Given the description of an element on the screen output the (x, y) to click on. 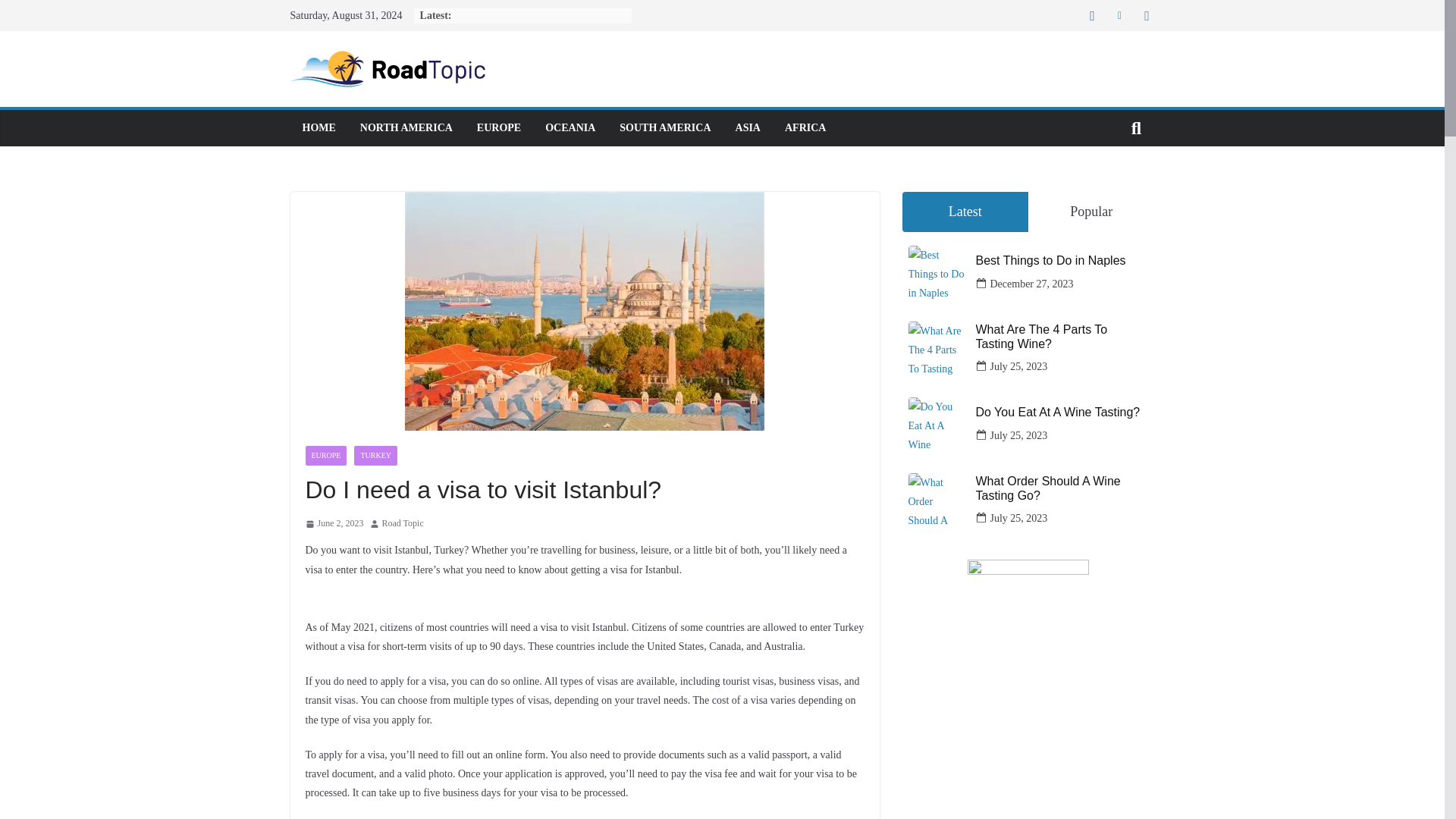
TURKEY (375, 455)
July 25, 2023 (1019, 366)
AFRICA (804, 127)
Best Things to Do in Naples (1061, 260)
Road Topic (402, 523)
EUROPE (499, 127)
What Are The 4 Parts To Tasting Wine? (1061, 336)
OCEANIA (569, 127)
ASIA (747, 127)
July 25, 2023 (1019, 435)
